Given the description of an element on the screen output the (x, y) to click on. 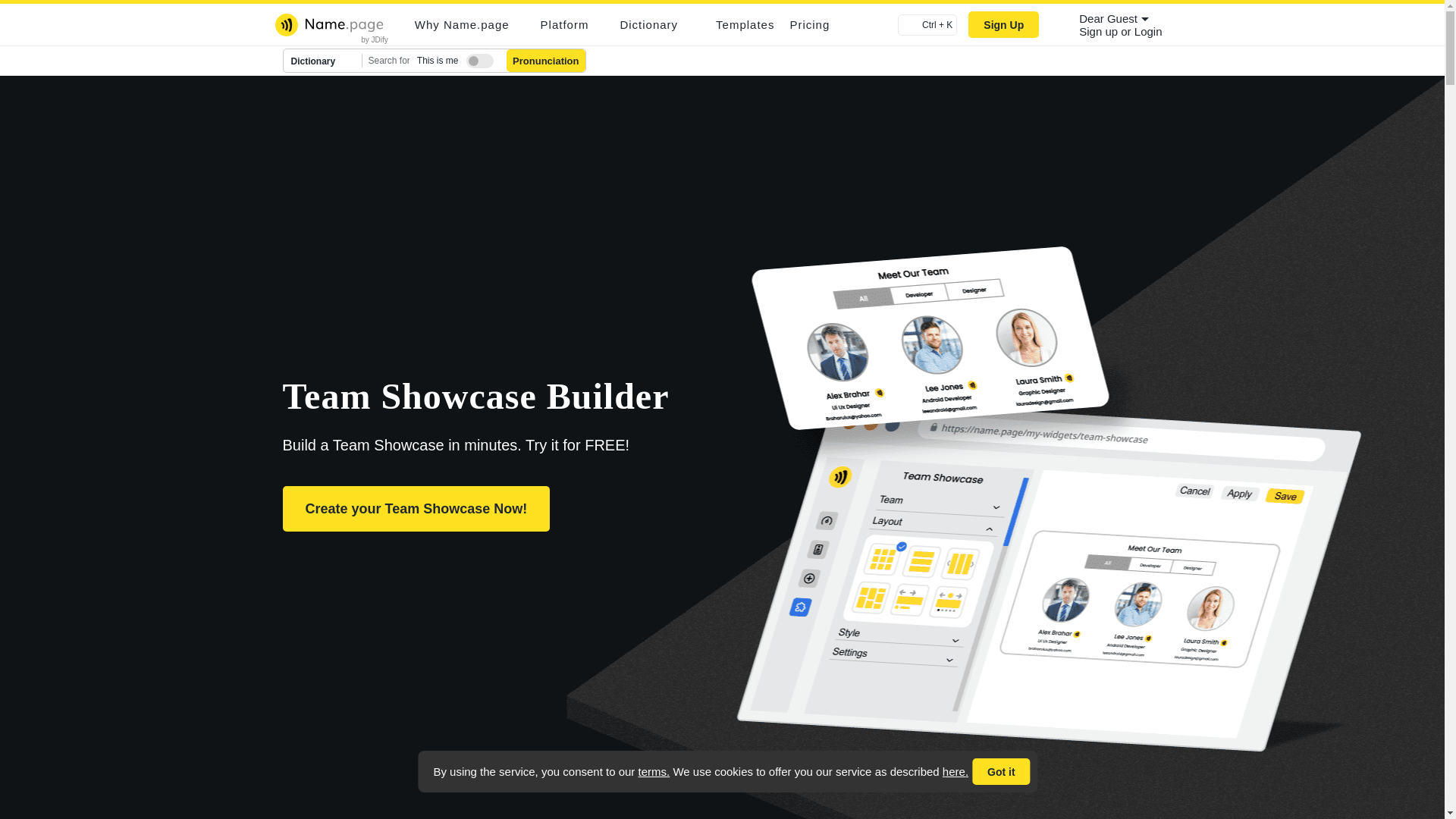
Sign Up (1003, 24)
Dictionary (322, 60)
Sign-up it's free and takes just 2 minutes (1099, 31)
by JDify (374, 39)
Templates (745, 24)
Pronunciation (545, 60)
Sign in to your account (1147, 31)
Pricing (809, 24)
Sign up (1099, 31)
Is this your name? (476, 58)
Search name pronunciation (545, 60)
Login (1147, 31)
